Given the description of an element on the screen output the (x, y) to click on. 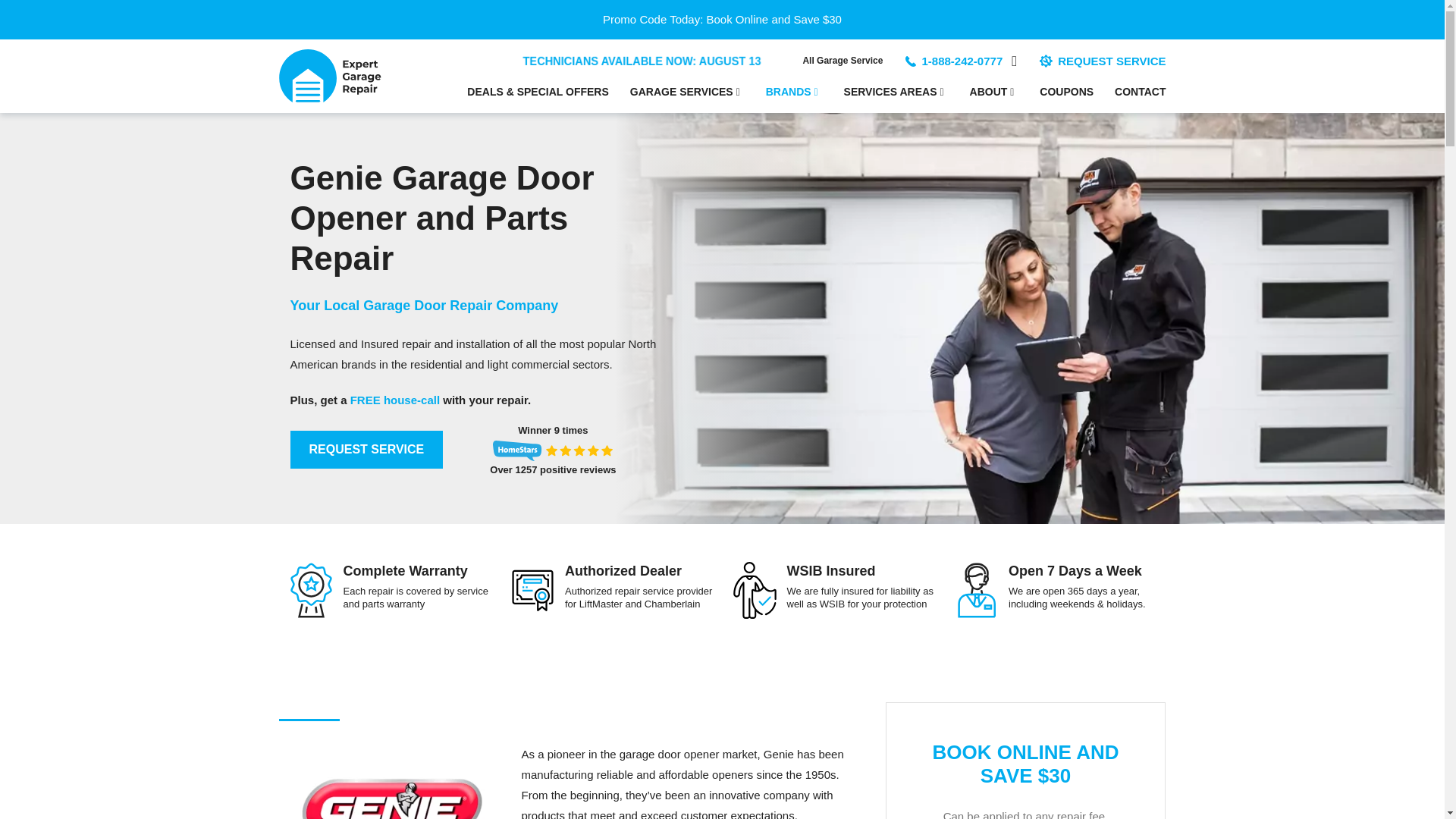
GARAGE SERVICES (687, 92)
1-888-242-0777 (962, 60)
Complete Warranty - fixgaragedoors.ca (310, 590)
Authorized Dealer - fixgaragedoors.ca (531, 590)
BRANDS (793, 92)
WSIB Insured - fixgaragedoors.ca (754, 590)
REQUEST SERVICE (1102, 60)
Open 7 Days a Week - fixgaragedoors.ca (975, 590)
